Given the description of an element on the screen output the (x, y) to click on. 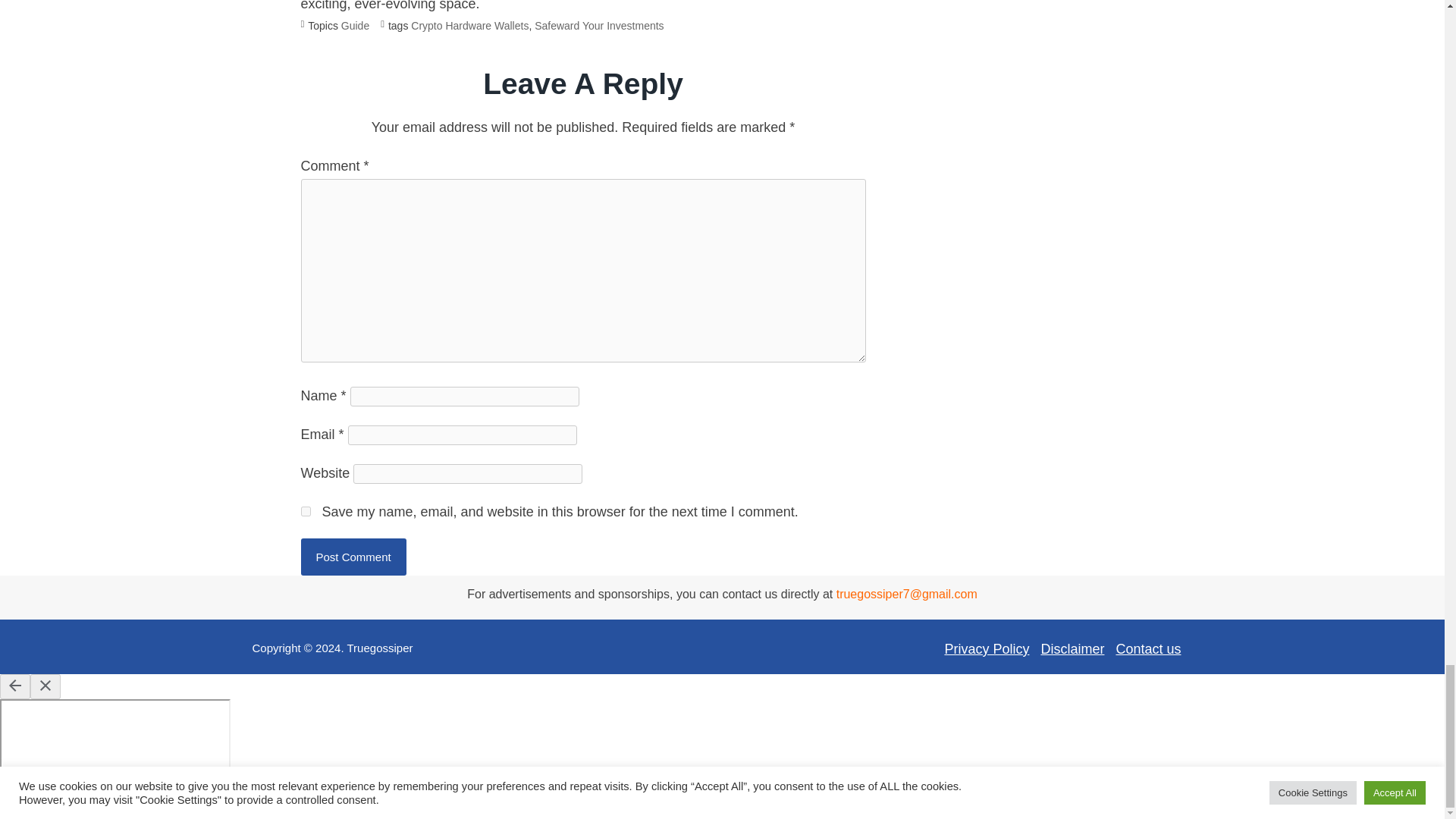
Contact us (1147, 648)
Post Comment (352, 556)
Safeward Your Investments (598, 26)
Disclaimer (1072, 648)
Guide (354, 26)
yes (304, 511)
Privacy Policy (986, 648)
Crypto Hardware Wallets (469, 26)
Post Comment (352, 556)
